Given the description of an element on the screen output the (x, y) to click on. 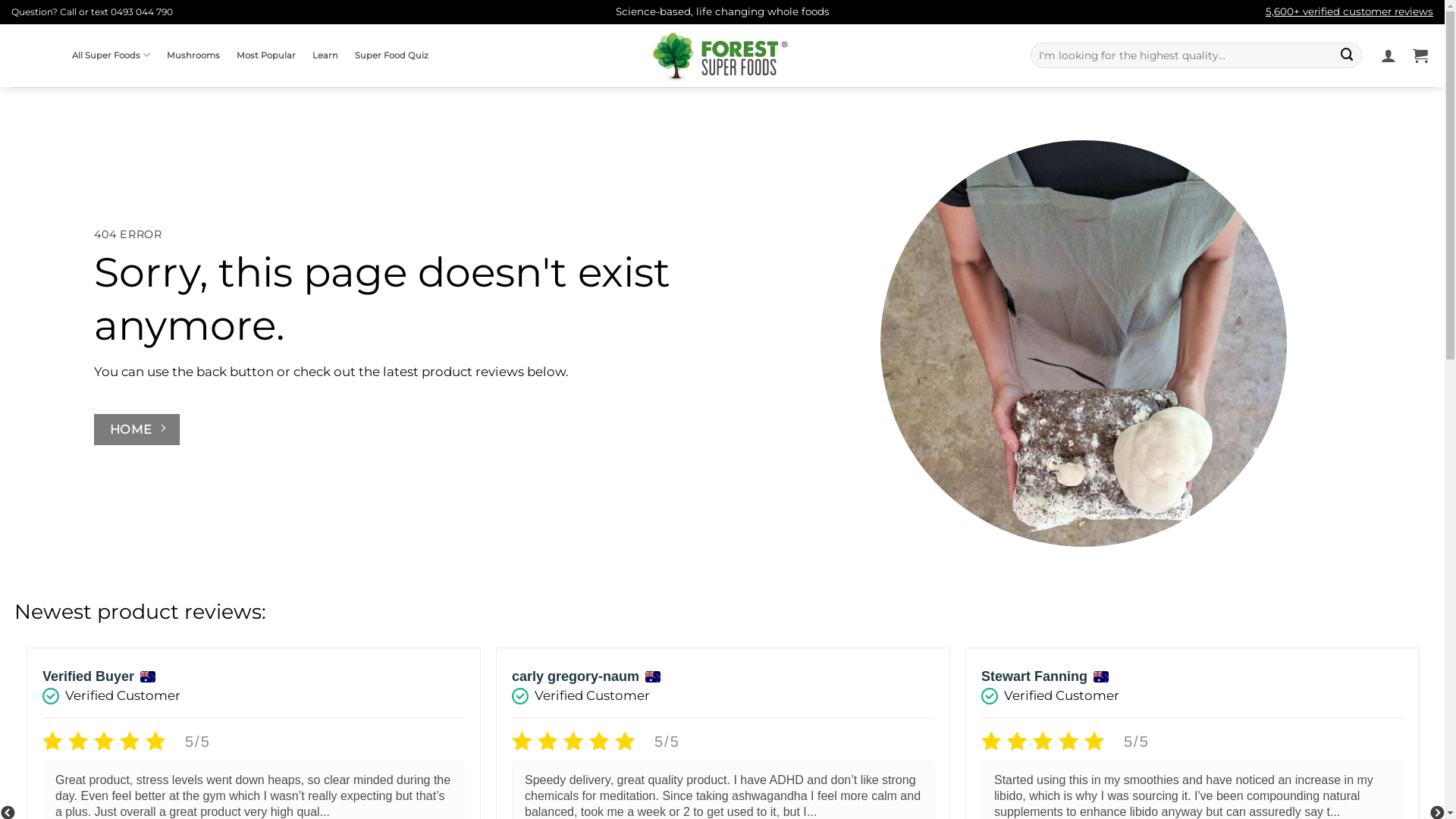
Most Popular Element type: text (265, 55)
Super Food Quiz Element type: text (391, 55)
Skip to content Element type: text (0, 0)
5,600+ verified customer reviews Element type: text (1349, 11)
Search Element type: text (1346, 54)
All Super Foods Element type: text (111, 54)
Question? Call or text 0493 044 790 Element type: text (91, 11)
Cart Element type: hover (1419, 55)
view original Element type: text (164, 805)
Science-based, life changing whole foods Element type: text (722, 12)
Mushrooms Element type: text (192, 55)
HOME Element type: text (136, 429)
Learn Element type: text (325, 55)
Forest Super Foods - Natures Finest Work Element type: hover (721, 55)
